Given the description of an element on the screen output the (x, y) to click on. 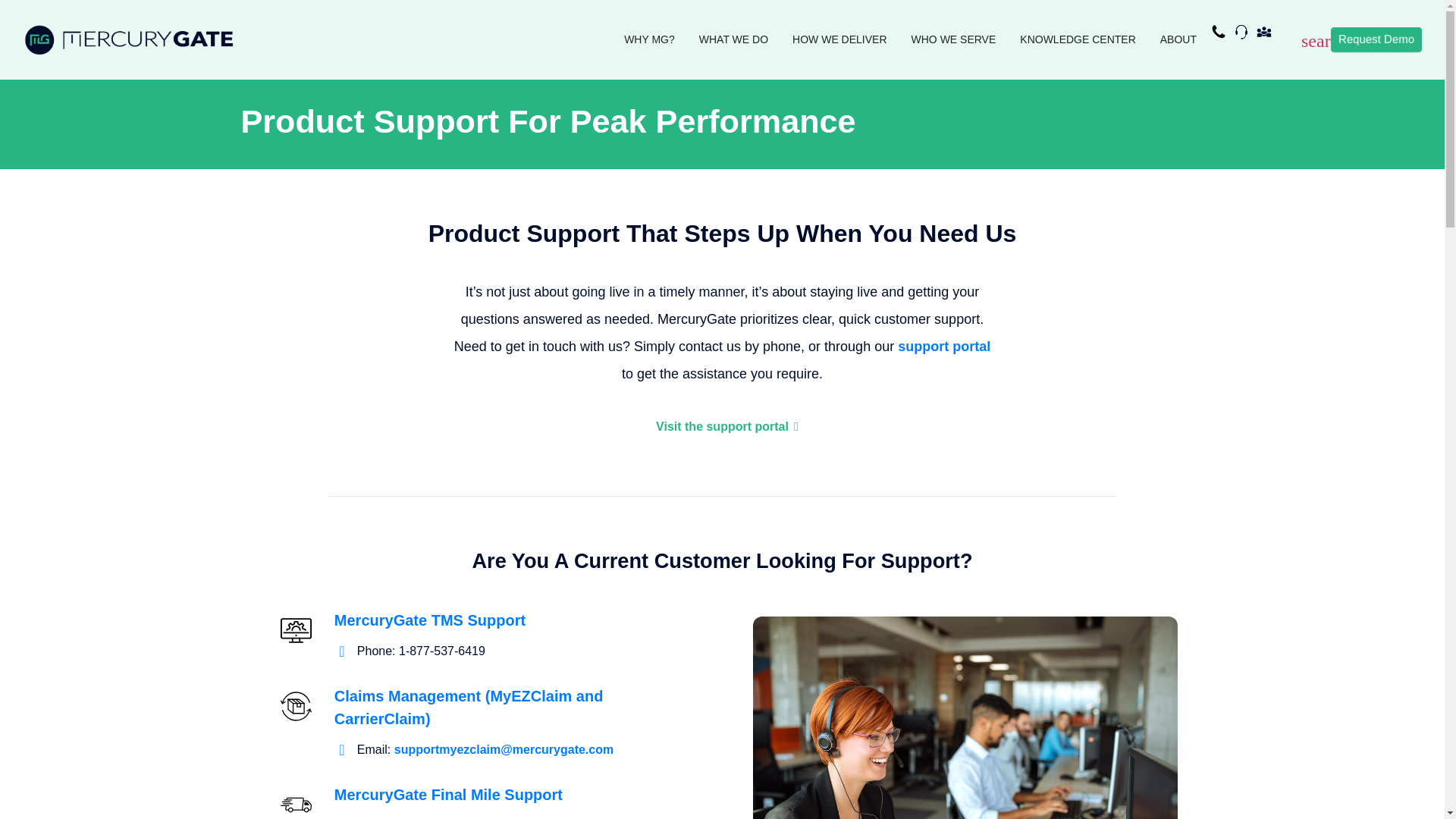
Partners (1267, 35)
Contact (1222, 35)
Support (1244, 35)
Search (1323, 43)
